Given the description of an element on the screen output the (x, y) to click on. 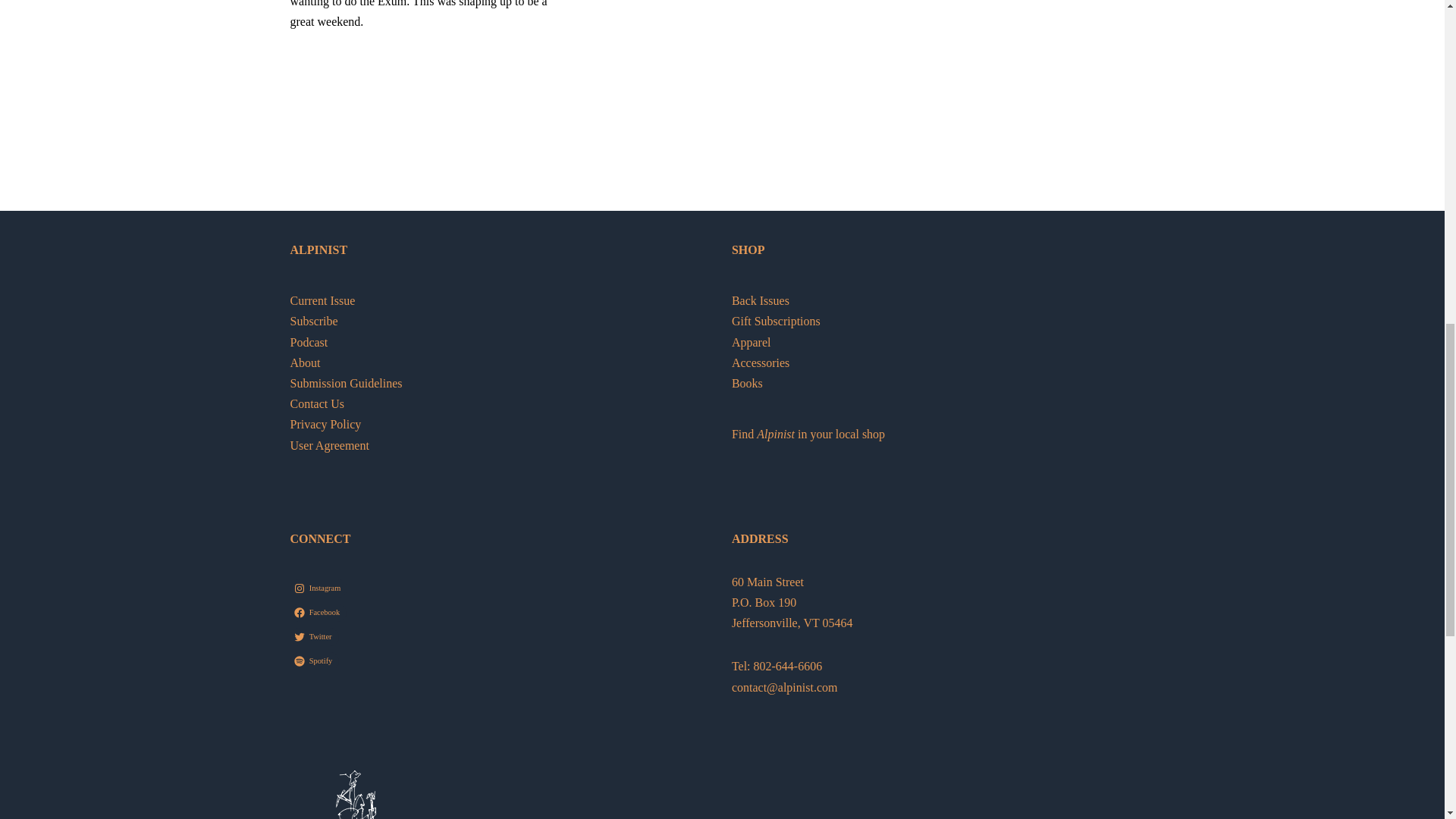
Subscribe (313, 320)
Back Issues (760, 300)
Current Issue (322, 300)
Contact Us (316, 403)
Podcast (308, 341)
User Agreement (328, 445)
About (304, 362)
Privacy Policy (325, 423)
Submission Guidelines (345, 382)
